Given the description of an element on the screen output the (x, y) to click on. 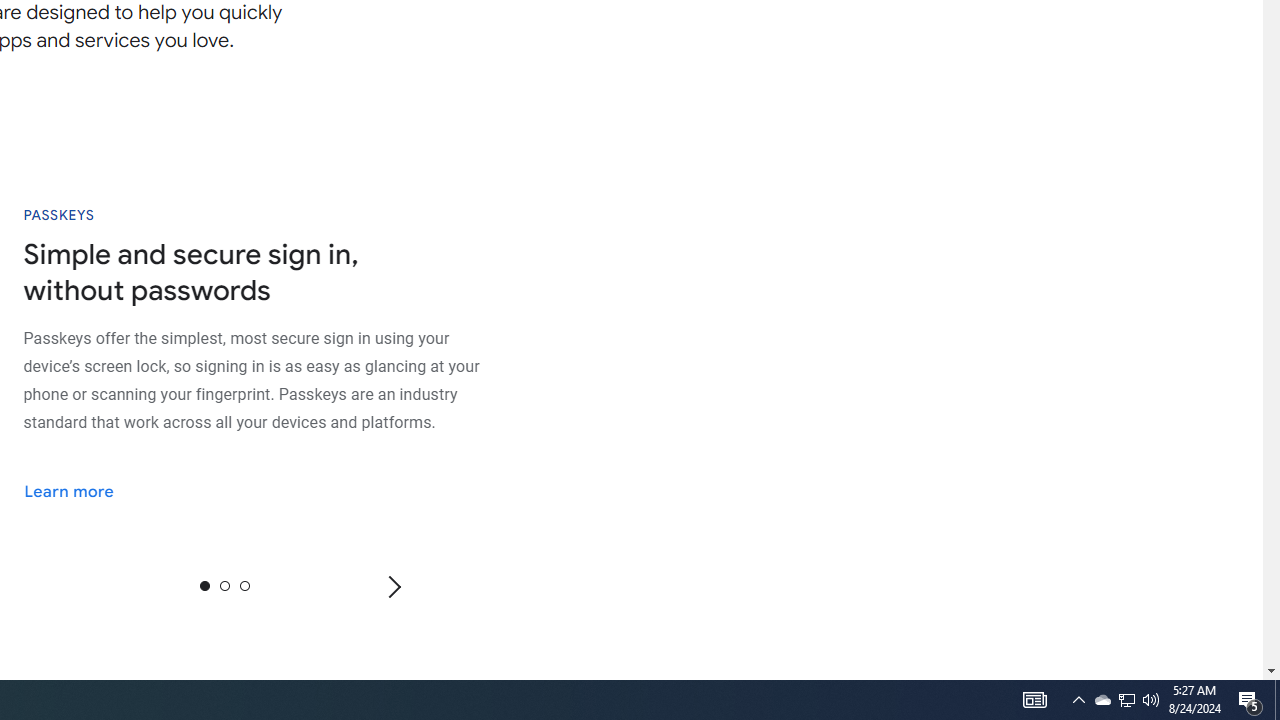
Next (393, 586)
0 (204, 585)
1 (224, 585)
2 (243, 585)
AutomationID: passkeys-module-1 (275, 379)
Learn more (82, 489)
